Given the description of an element on the screen output the (x, y) to click on. 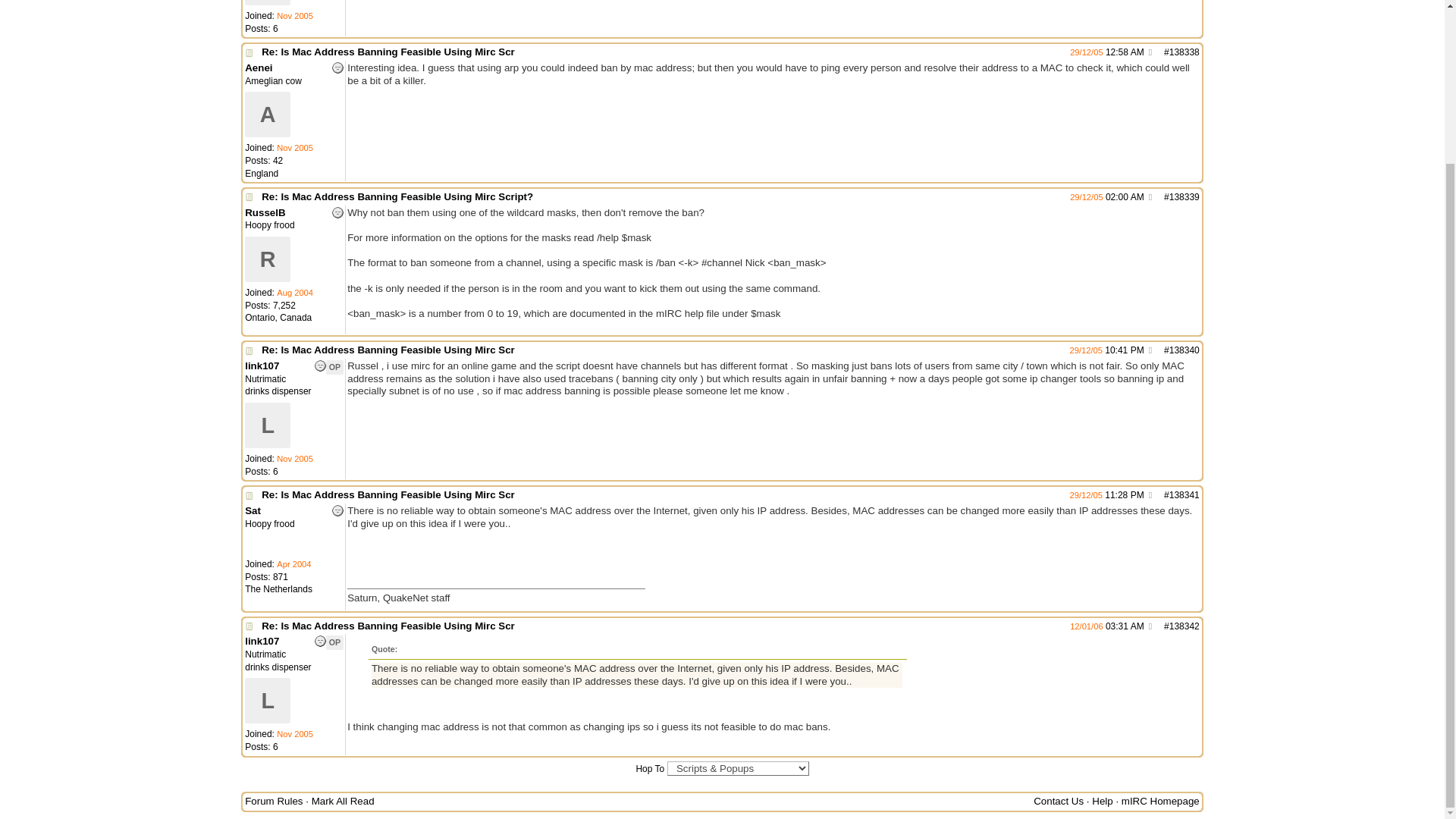
RusselB (266, 258)
Re: Is Mac Address Banning Feasible Using Mirc Scr (661, 350)
England (261, 172)
A (266, 114)
link107 (266, 2)
138339 (1184, 196)
Aenei (258, 67)
138338 (1184, 51)
Share Post (1150, 196)
Offline (337, 67)
